Given the description of an element on the screen output the (x, y) to click on. 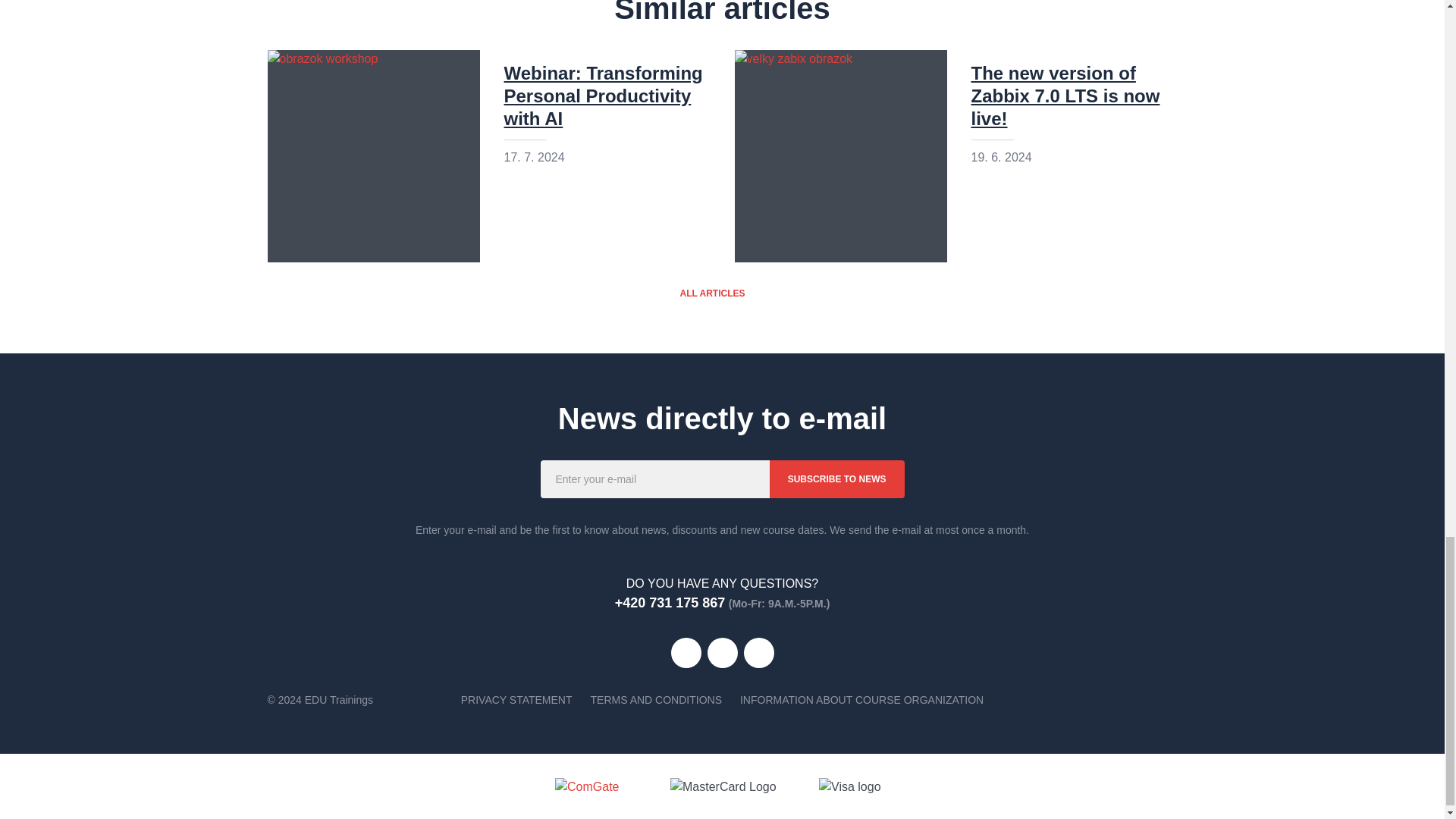
Subscribe to news (837, 478)
ALL ARTICLES (721, 293)
Webinar: Transforming Personal Productivity with AI (602, 95)
Facebook (684, 653)
The new version of Zabbix 7.0 LTS is now live! (1064, 95)
Linkedin (721, 653)
Subscribe to news (837, 478)
